Given the description of an element on the screen output the (x, y) to click on. 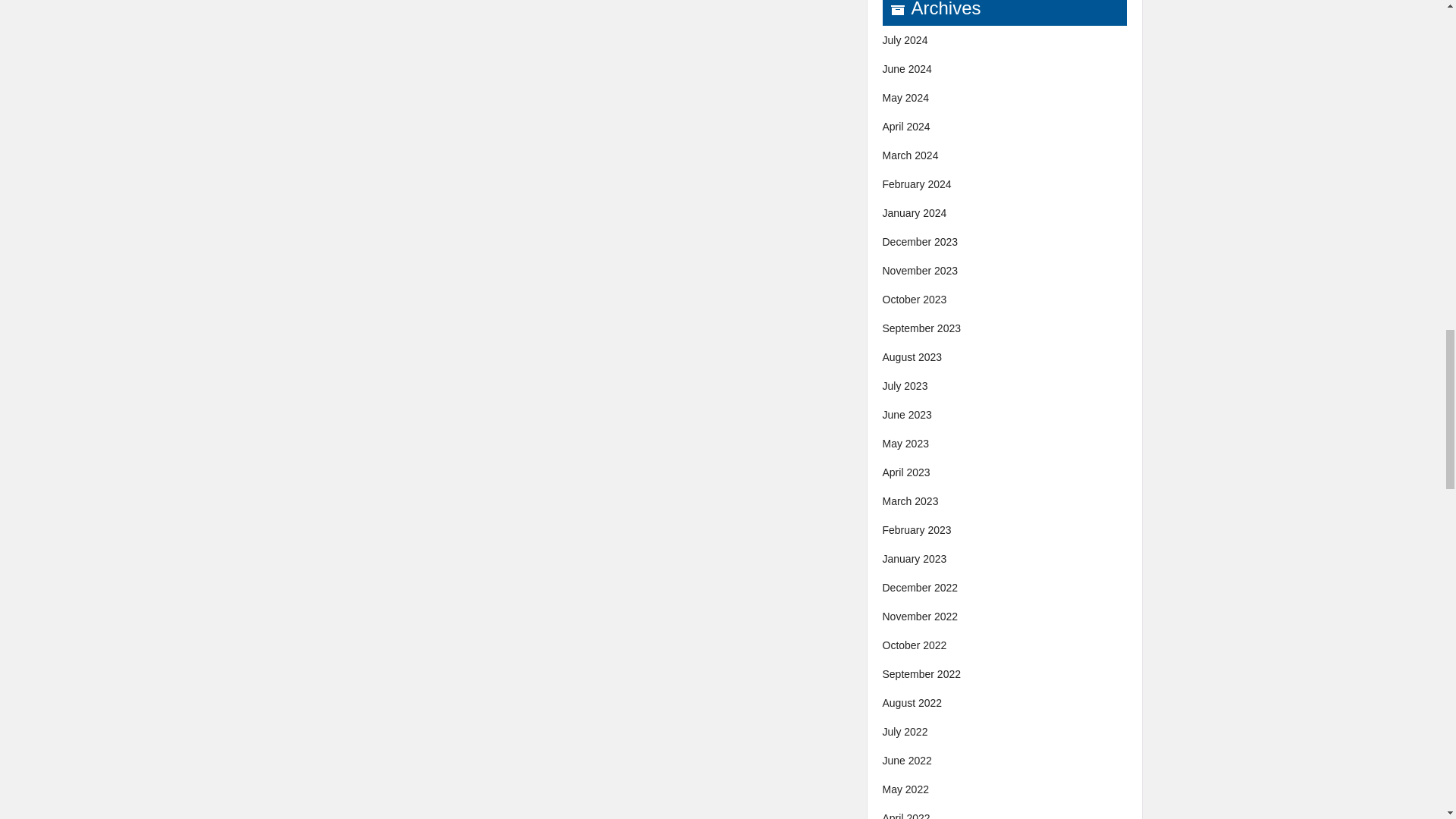
November 2023 (920, 270)
August 2023 (912, 357)
May 2024 (905, 97)
July 2024 (905, 39)
April 2023 (906, 472)
September 2023 (921, 328)
May 2023 (905, 443)
February 2023 (917, 530)
July 2023 (905, 386)
October 2023 (914, 299)
January 2023 (914, 558)
December 2023 (920, 241)
March 2024 (910, 155)
April 2024 (906, 126)
March 2023 (910, 500)
